Given the description of an element on the screen output the (x, y) to click on. 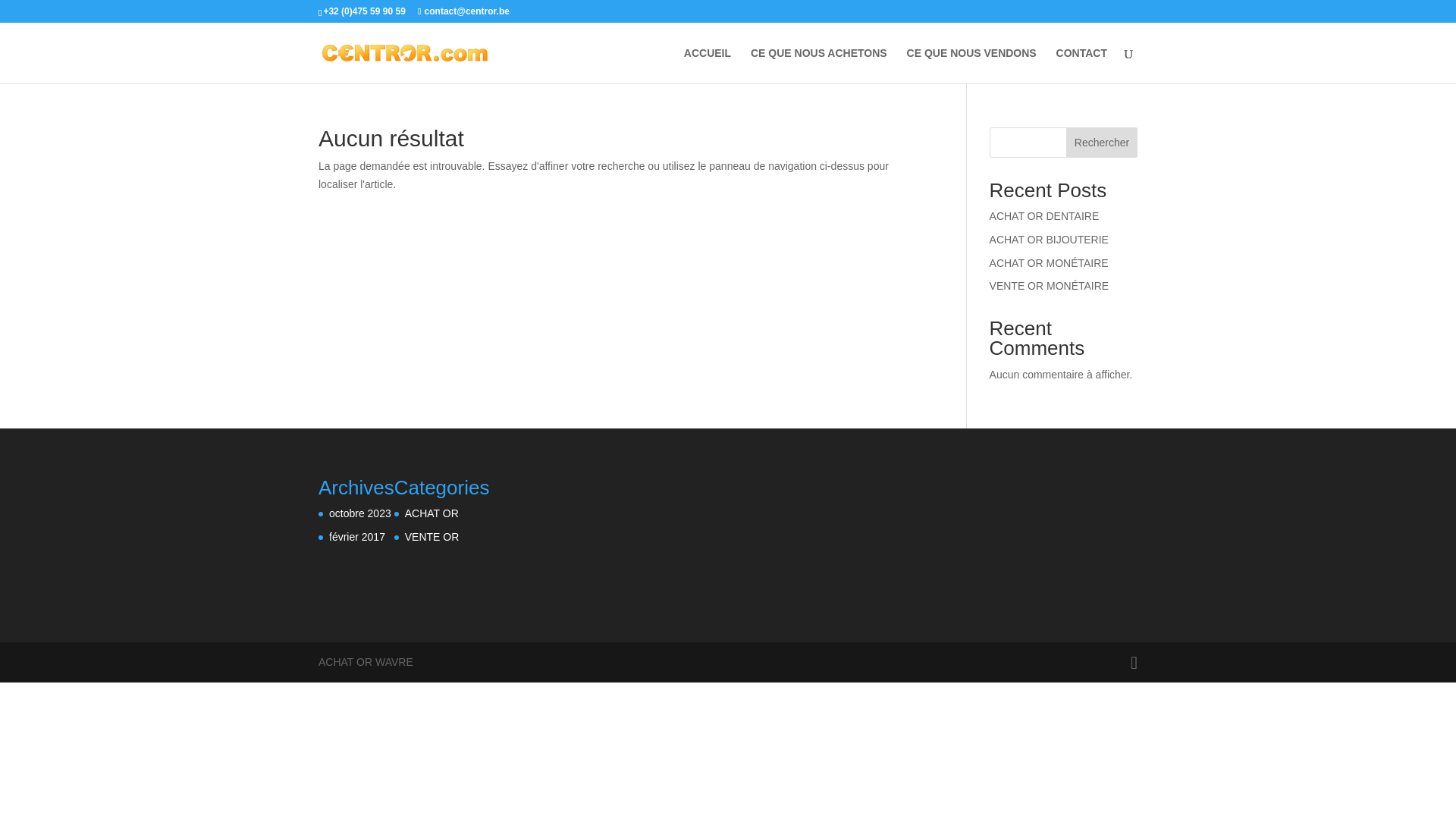
octobre 2023 Element type: text (360, 513)
contact@centror.be Element type: text (463, 11)
ACHAT OR BIJOUTERIE Element type: text (1048, 239)
Rechercher Element type: text (1101, 142)
ACHAT OR DENTAIRE Element type: text (1044, 216)
CE QUE NOUS ACHETONS Element type: text (818, 65)
ACCUEIL Element type: text (707, 65)
CE QUE NOUS VENDONS Element type: text (971, 65)
ACHAT OR Element type: text (431, 513)
VENTE OR Element type: text (431, 536)
CONTACT Element type: text (1081, 65)
